Given the description of an element on the screen output the (x, y) to click on. 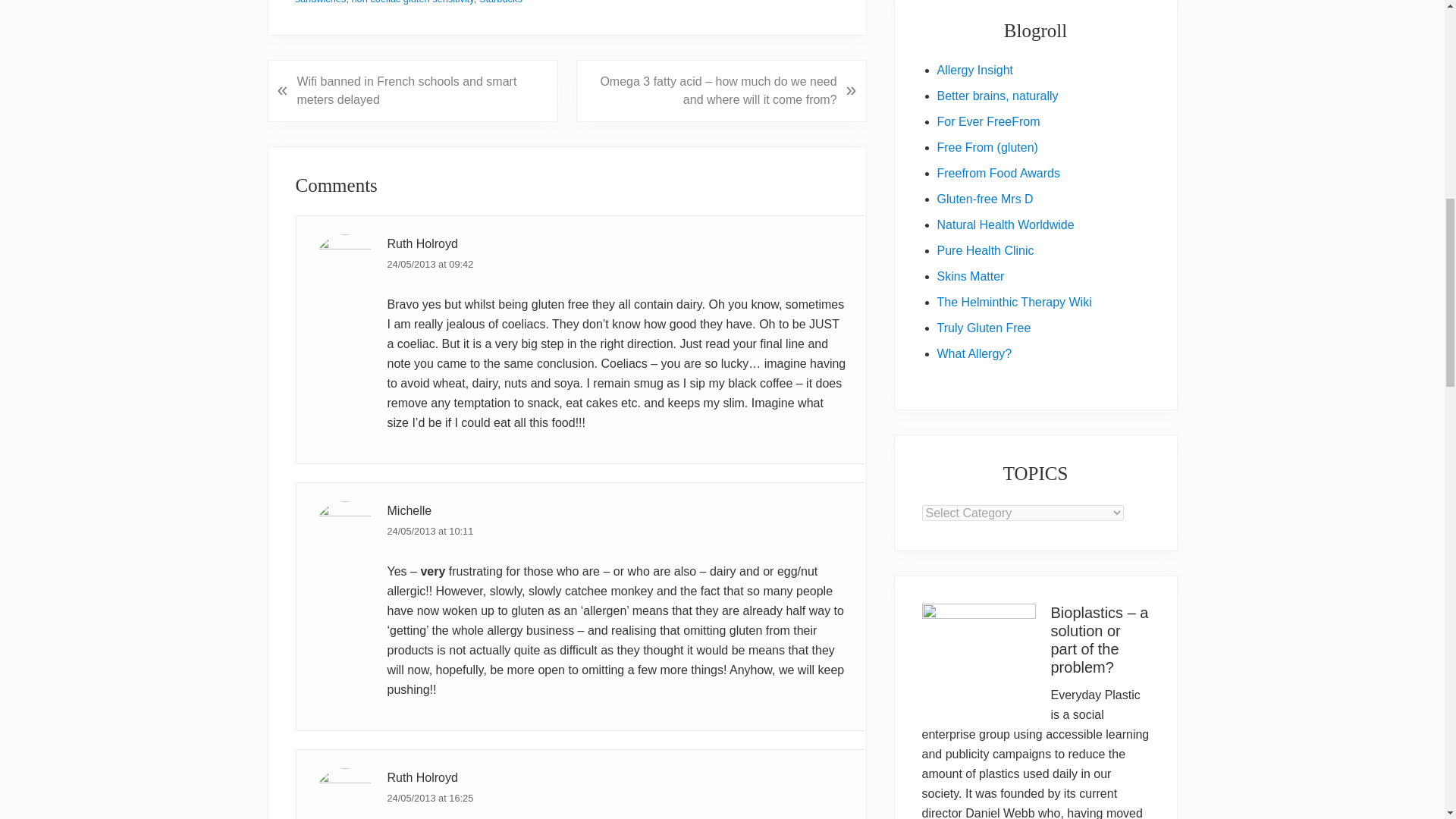
free from food awards website (998, 173)
Living with coeliac disease (987, 146)
Interesting blog from anaphylaxis sufferer (974, 353)
